Given the description of an element on the screen output the (x, y) to click on. 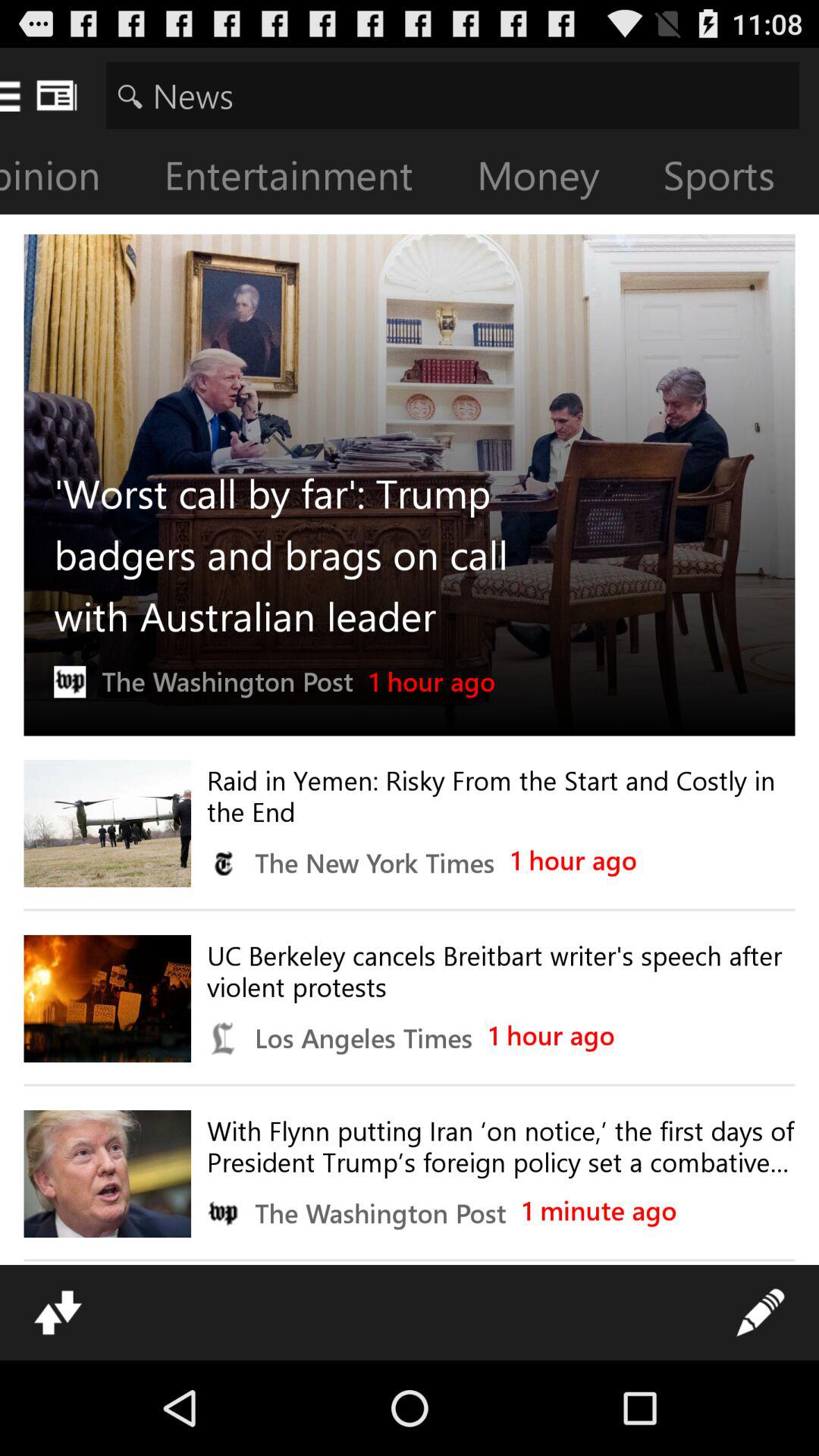
select item next to opinion icon (300, 178)
